Given the description of an element on the screen output the (x, y) to click on. 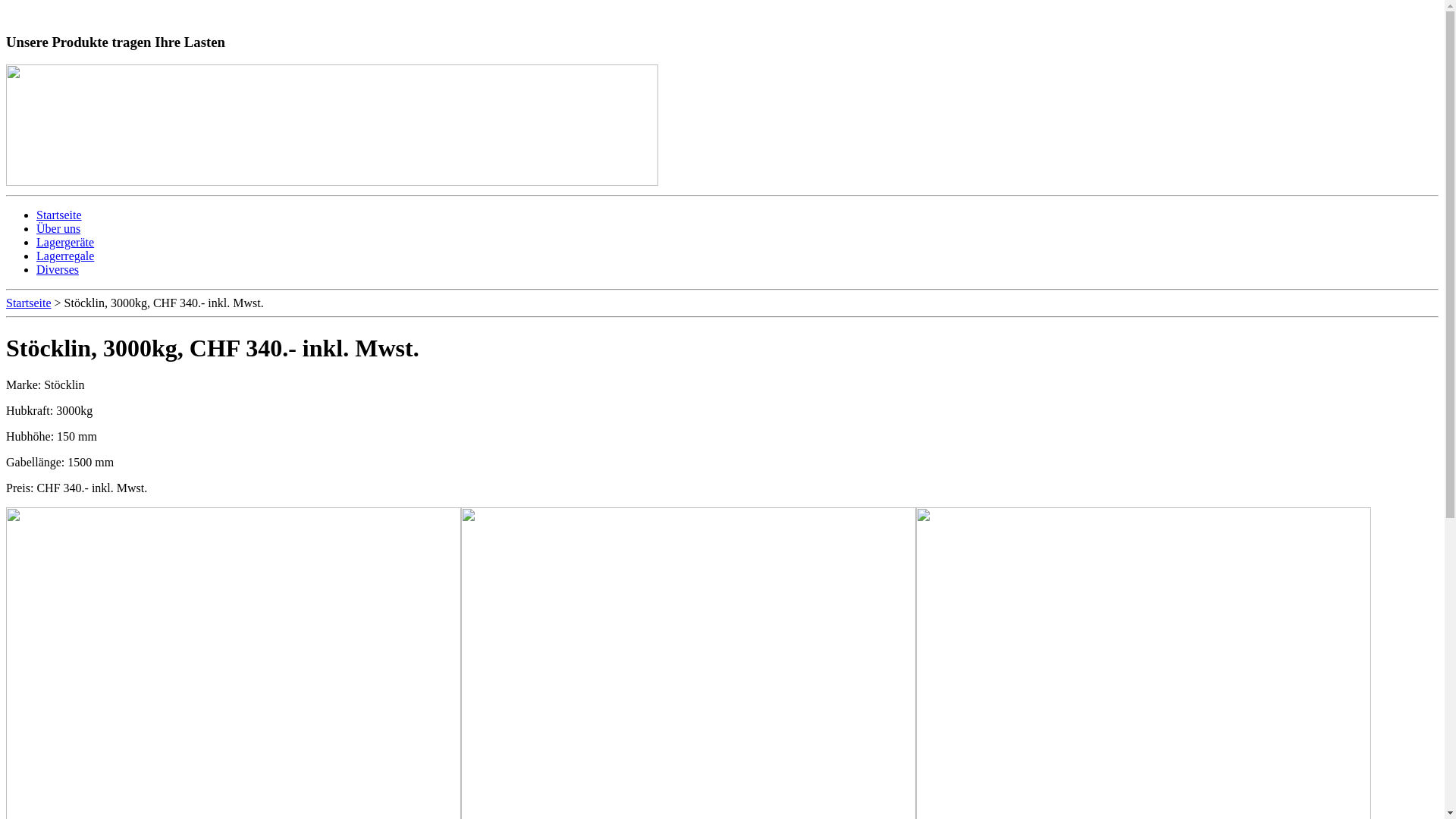
Lagerregale Element type: text (65, 255)
Startseite Element type: text (58, 214)
Zur Startseite Element type: hover (54, 12)
Startseite Element type: text (28, 302)
Diverses Element type: text (57, 269)
